Given the description of an element on the screen output the (x, y) to click on. 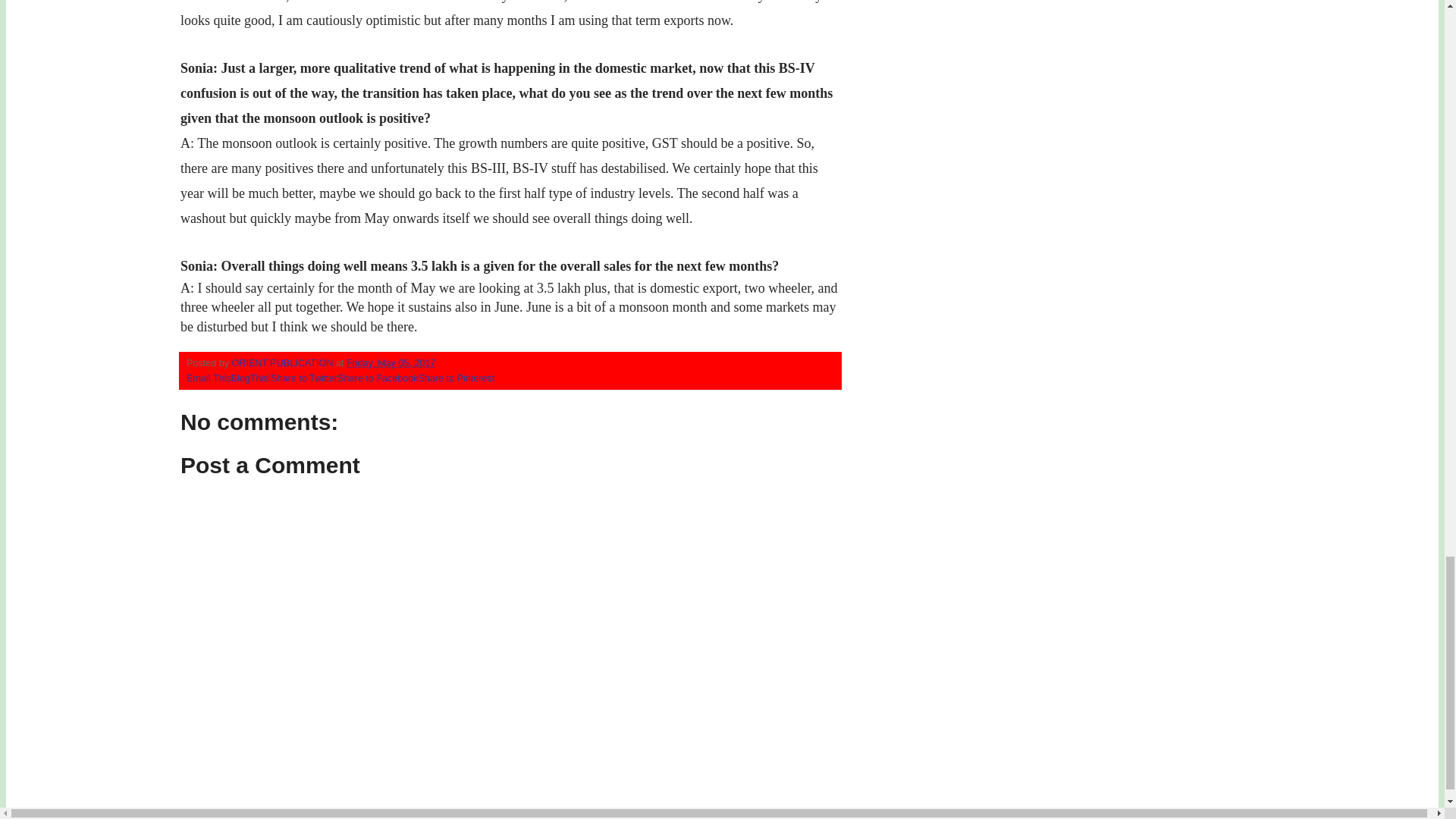
BlogThis! (250, 378)
Share to Pinterest (456, 378)
author profile (283, 362)
Friday, May 05, 2017 (390, 362)
BlogThis! (250, 378)
ORIENT PUBLICATION (283, 362)
permanent link (390, 362)
Share to Pinterest (456, 378)
Email This (208, 378)
Email This (208, 378)
